Given the description of an element on the screen output the (x, y) to click on. 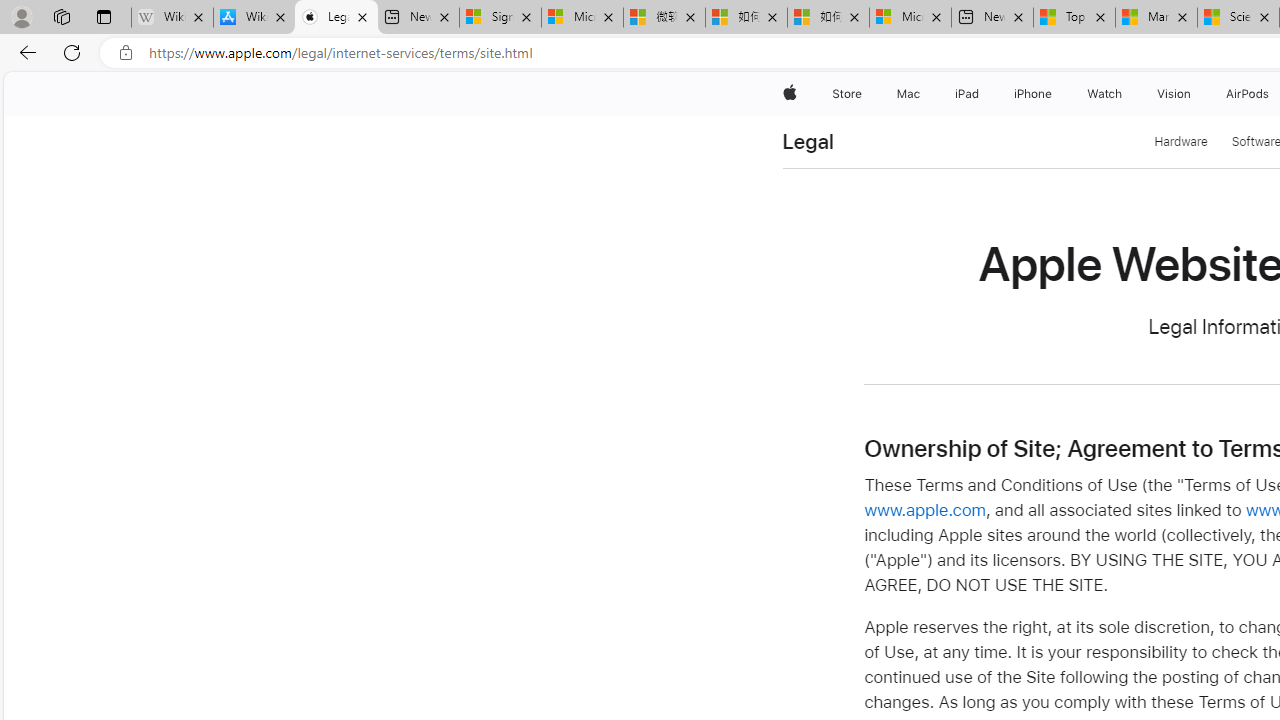
Legal - Website Terms of Use - Apple (336, 17)
AirPods (1247, 93)
iPhone (1033, 93)
Marine life - MSN (1156, 17)
iPad (965, 93)
Mac (908, 93)
Vision (1174, 93)
